Given the description of an element on the screen output the (x, y) to click on. 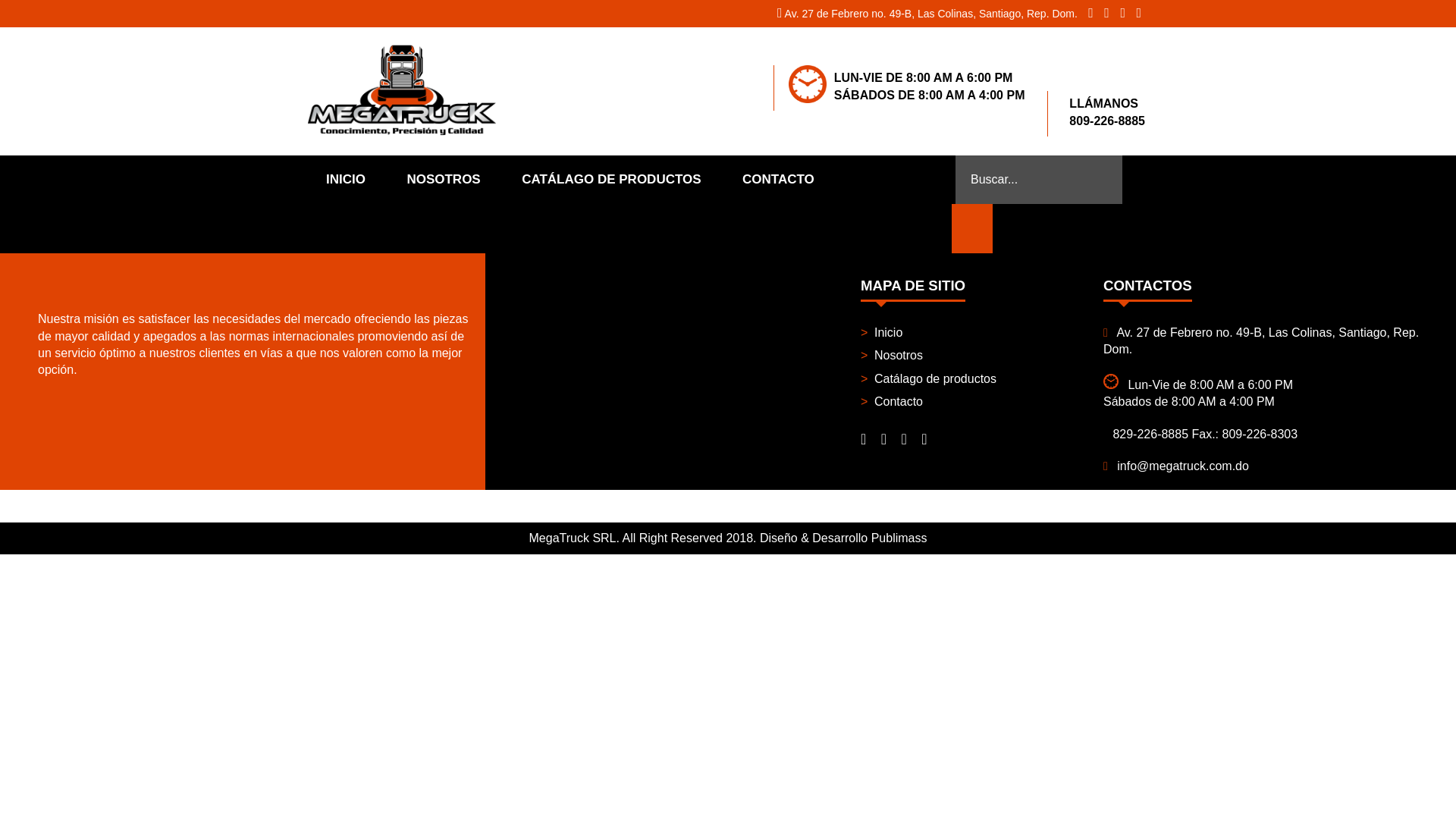
CONTACTO (778, 179)
Publimass (898, 537)
INICIO (345, 179)
Contacto (977, 401)
Inicio (977, 332)
NOSOTROS (442, 179)
Nosotros (977, 355)
